Given the description of an element on the screen output the (x, y) to click on. 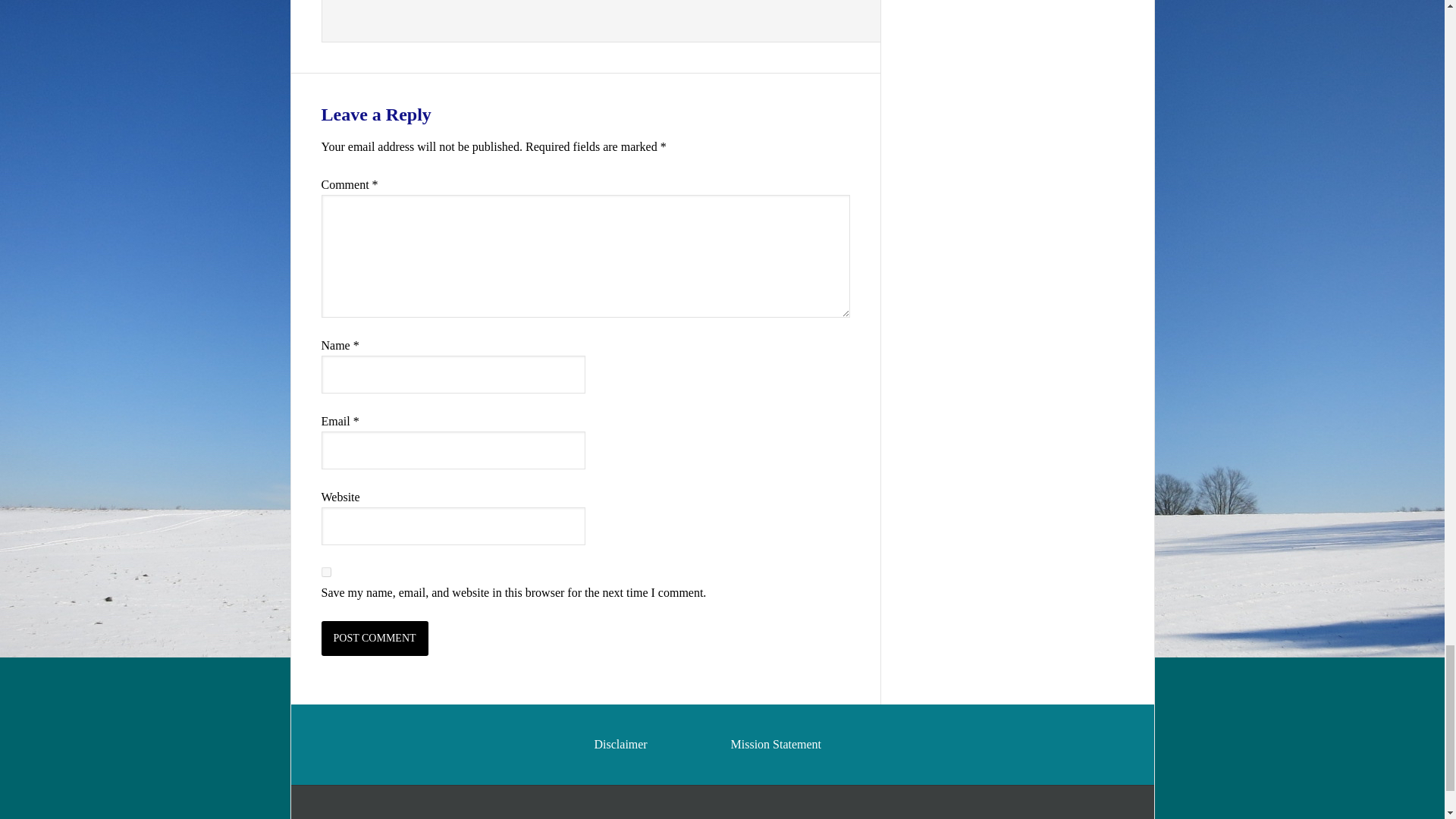
Post Comment (374, 638)
yes (326, 572)
